Given the description of an element on the screen output the (x, y) to click on. 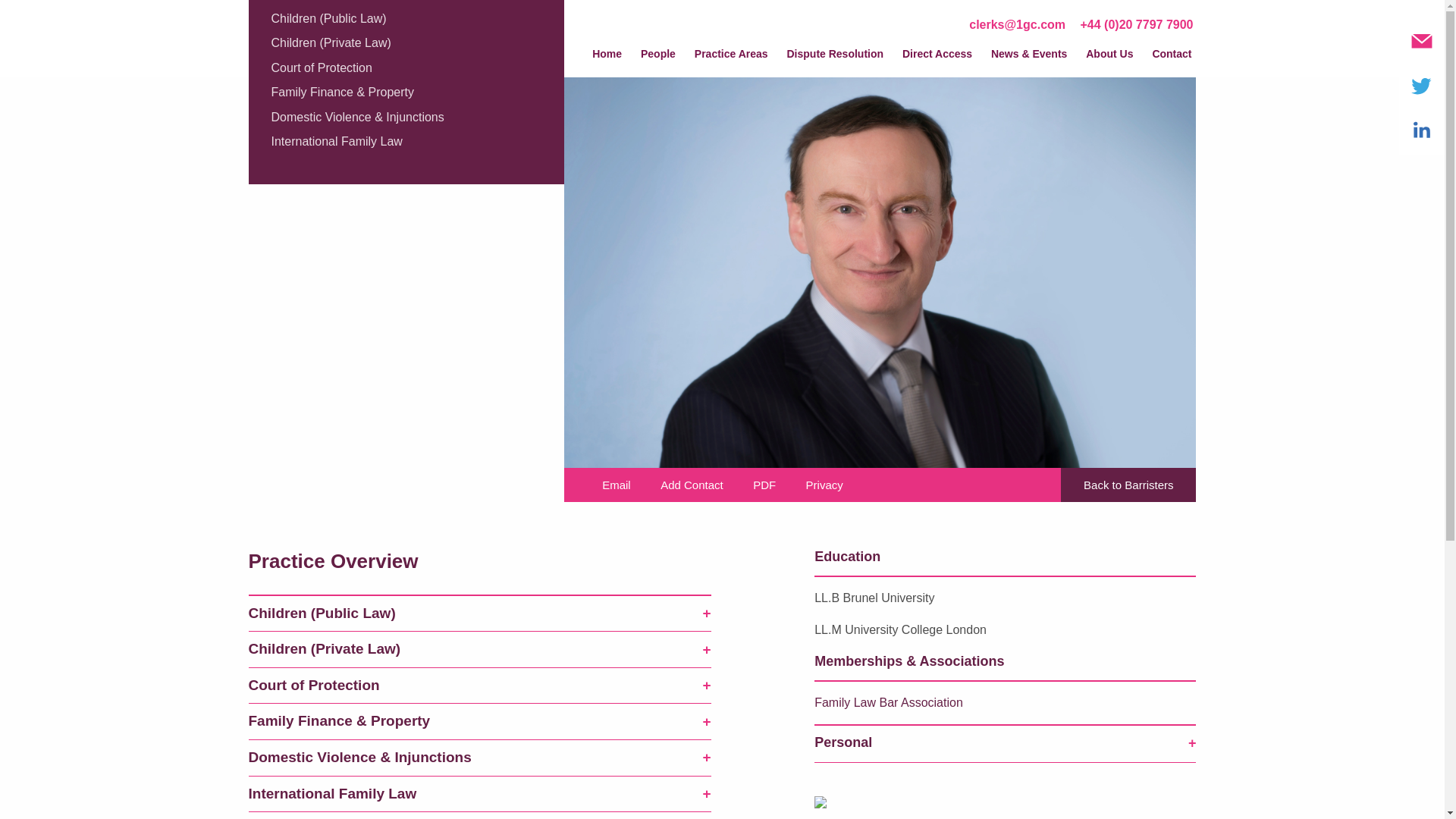
Home Element type: text (606, 59)
Direct Access Element type: text (936, 59)
Practice Areas Element type: text (731, 59)
About Us Element type: text (1109, 59)
Family Law Bar Association Element type: text (888, 702)
Children (Public Law) Element type: text (328, 18)
PDF Element type: text (760, 484)
clerks@1gc.com Element type: text (1017, 24)
Court of Protection Element type: text (479, 686)
Back to Barristers Element type: text (1128, 484)
News & Events Element type: text (1028, 59)
Children (Private Law) Element type: text (331, 42)
International Family Law Element type: text (336, 140)
Court of Protection Element type: text (321, 67)
Email Element type: text (612, 484)
International Family Law Element type: text (479, 794)
Children (Private Law) Element type: text (479, 649)
Domestic Violence & Injunctions Element type: text (479, 758)
Domestic Violence & Injunctions Element type: text (357, 116)
Add Contact Element type: text (687, 484)
Family Finance & Property Element type: text (342, 91)
People Element type: text (658, 59)
Children (Public Law) Element type: text (479, 613)
+44 (0)20 7797 7900 Element type: text (1135, 24)
Contact Element type: text (1171, 59)
Privacy Element type: text (820, 484)
Family Finance & Property Element type: text (479, 721)
Personal Element type: text (1004, 743)
Dispute Resolution Element type: text (835, 59)
